Given the description of an element on the screen output the (x, y) to click on. 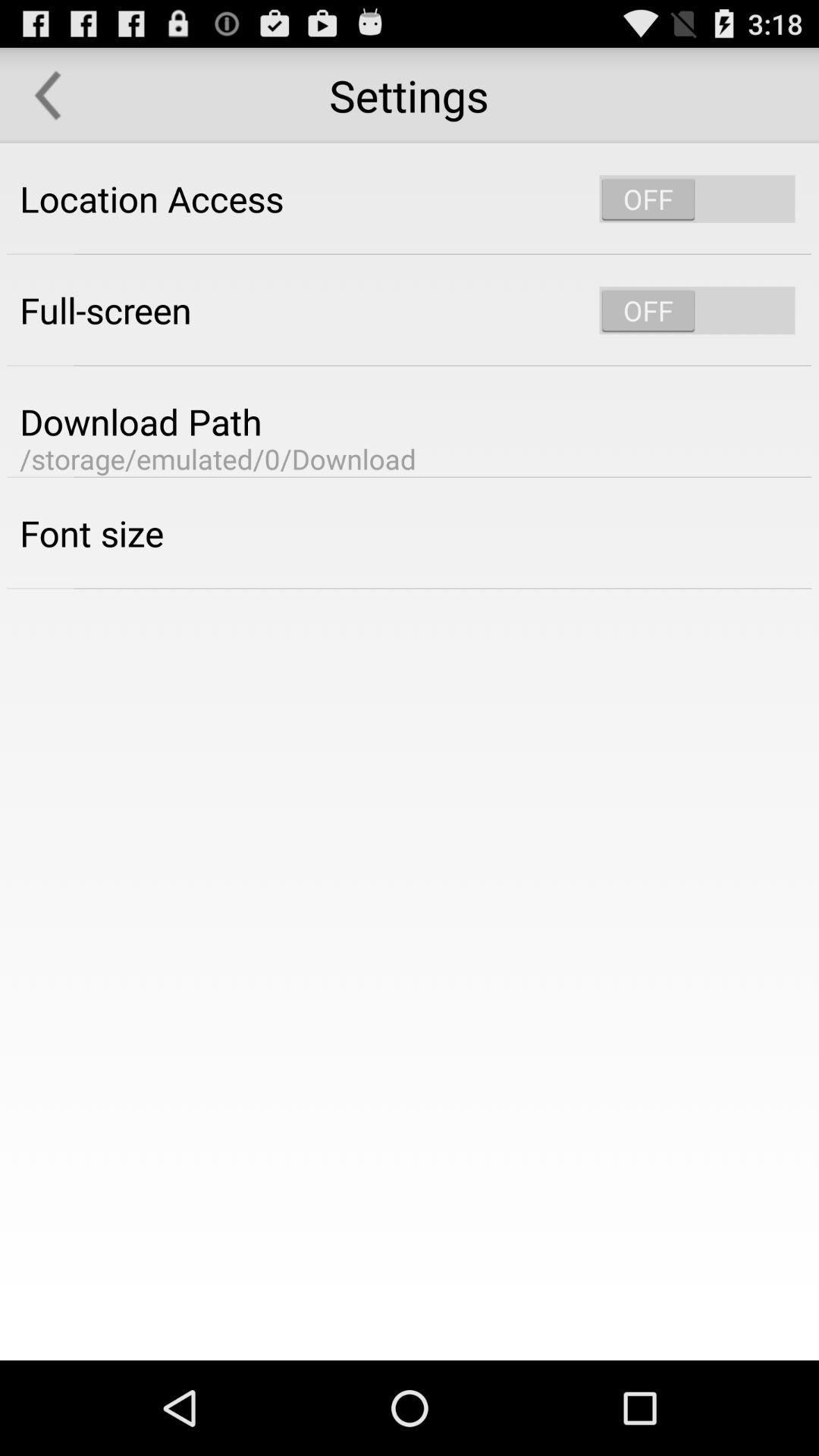
previous page (47, 95)
